Given the description of an element on the screen output the (x, y) to click on. 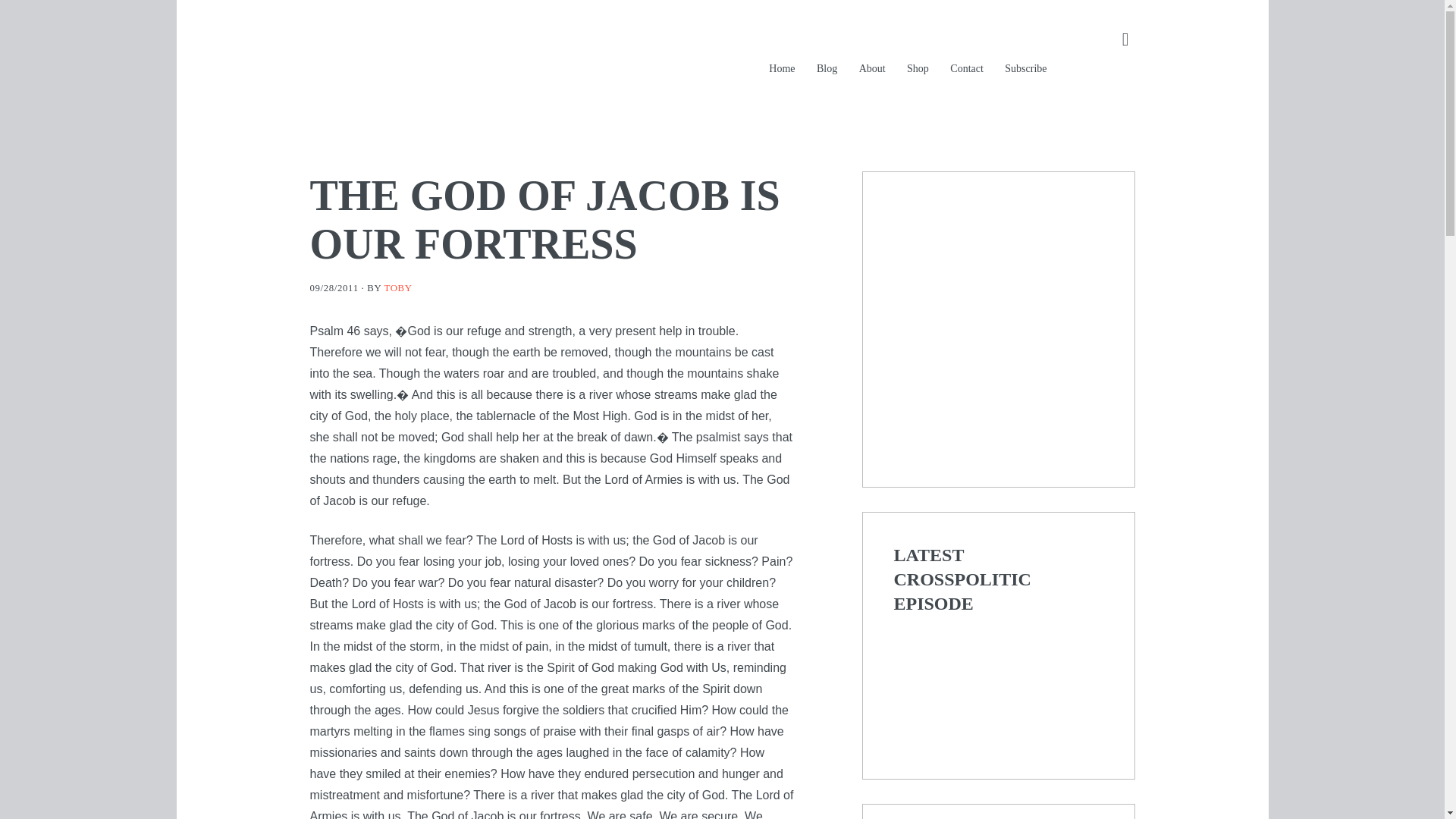
YouTube player (998, 685)
HAVING TWO LEGS (534, 60)
TOBY (398, 287)
